Given the description of an element on the screen output the (x, y) to click on. 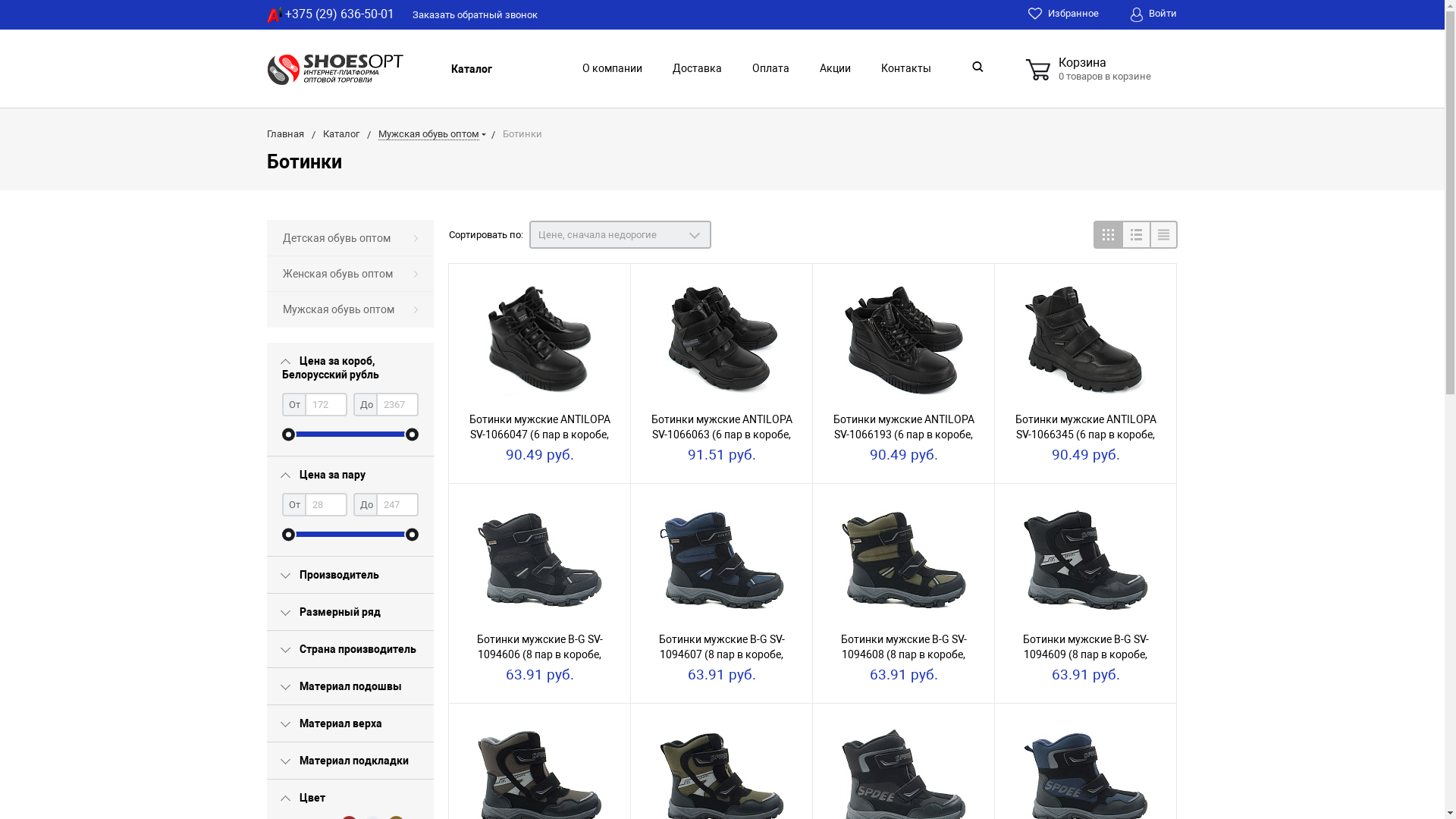
A1 Element type: hover (274, 14)
+375 (29) 636-50-01 Element type: text (330, 14)
